Given the description of an element on the screen output the (x, y) to click on. 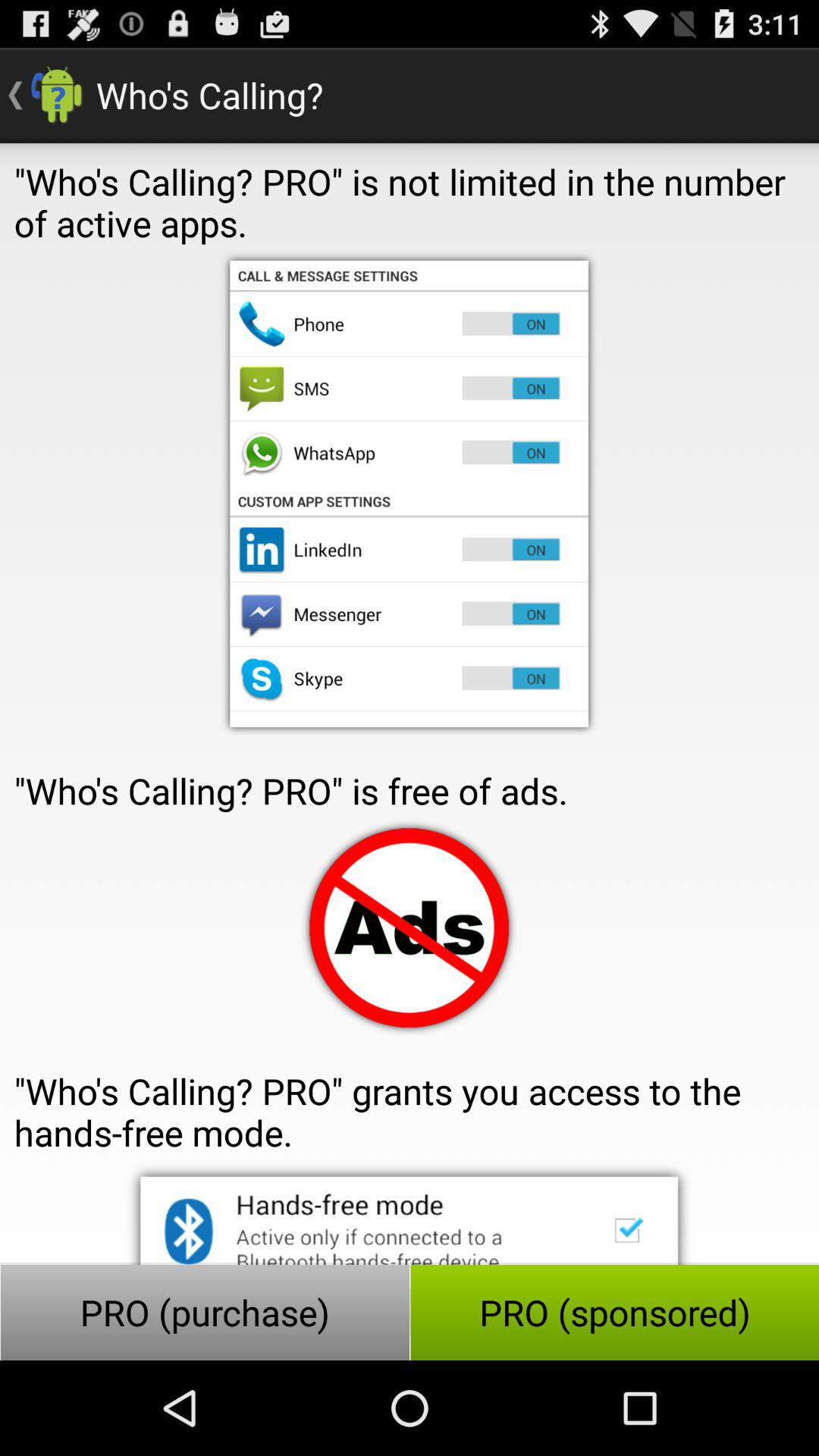
turn on the button at the bottom left corner (204, 1312)
